Given the description of an element on the screen output the (x, y) to click on. 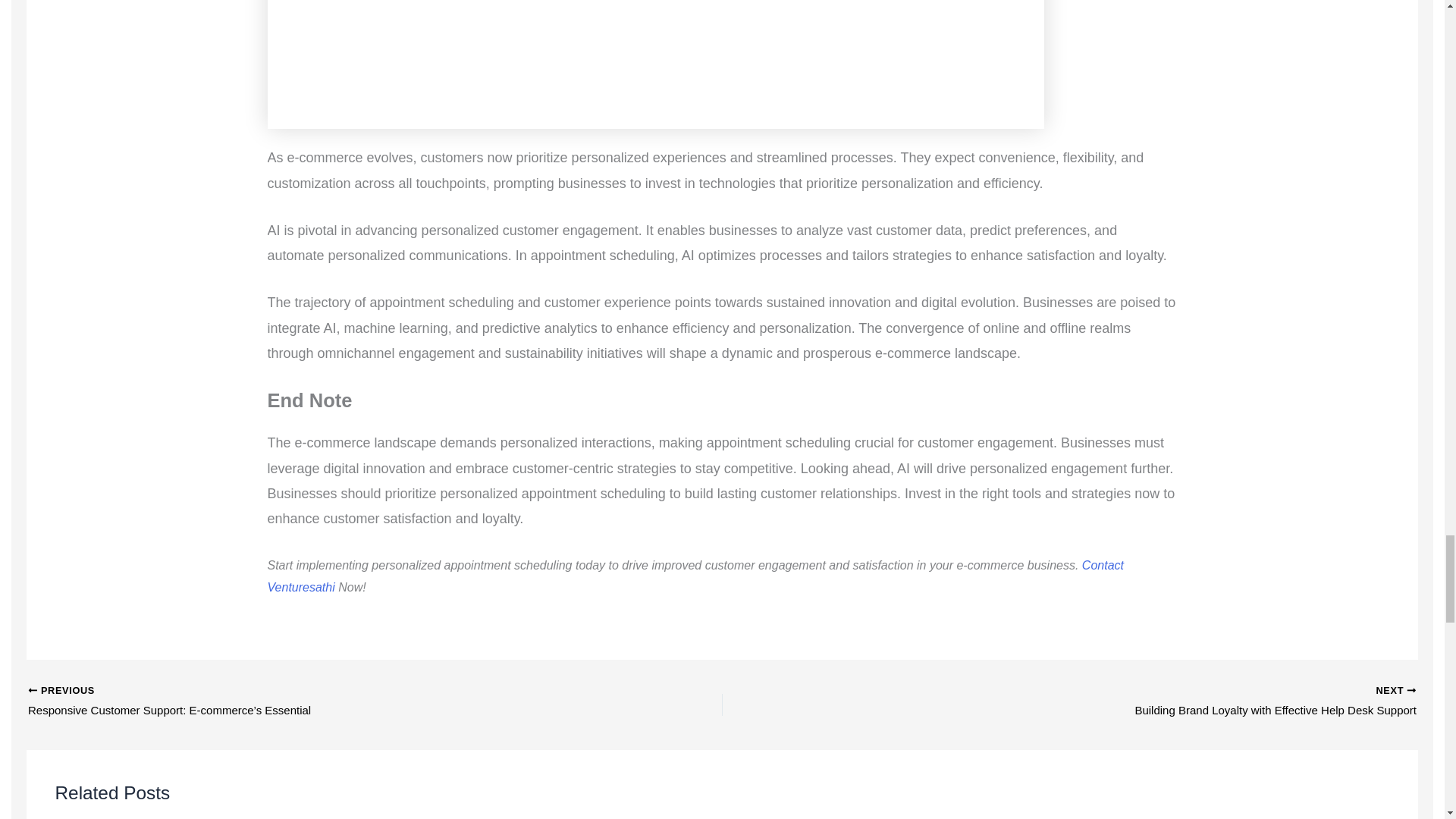
Responsive Customer Support: E-commerce's Essential (306, 701)
